Given the description of an element on the screen output the (x, y) to click on. 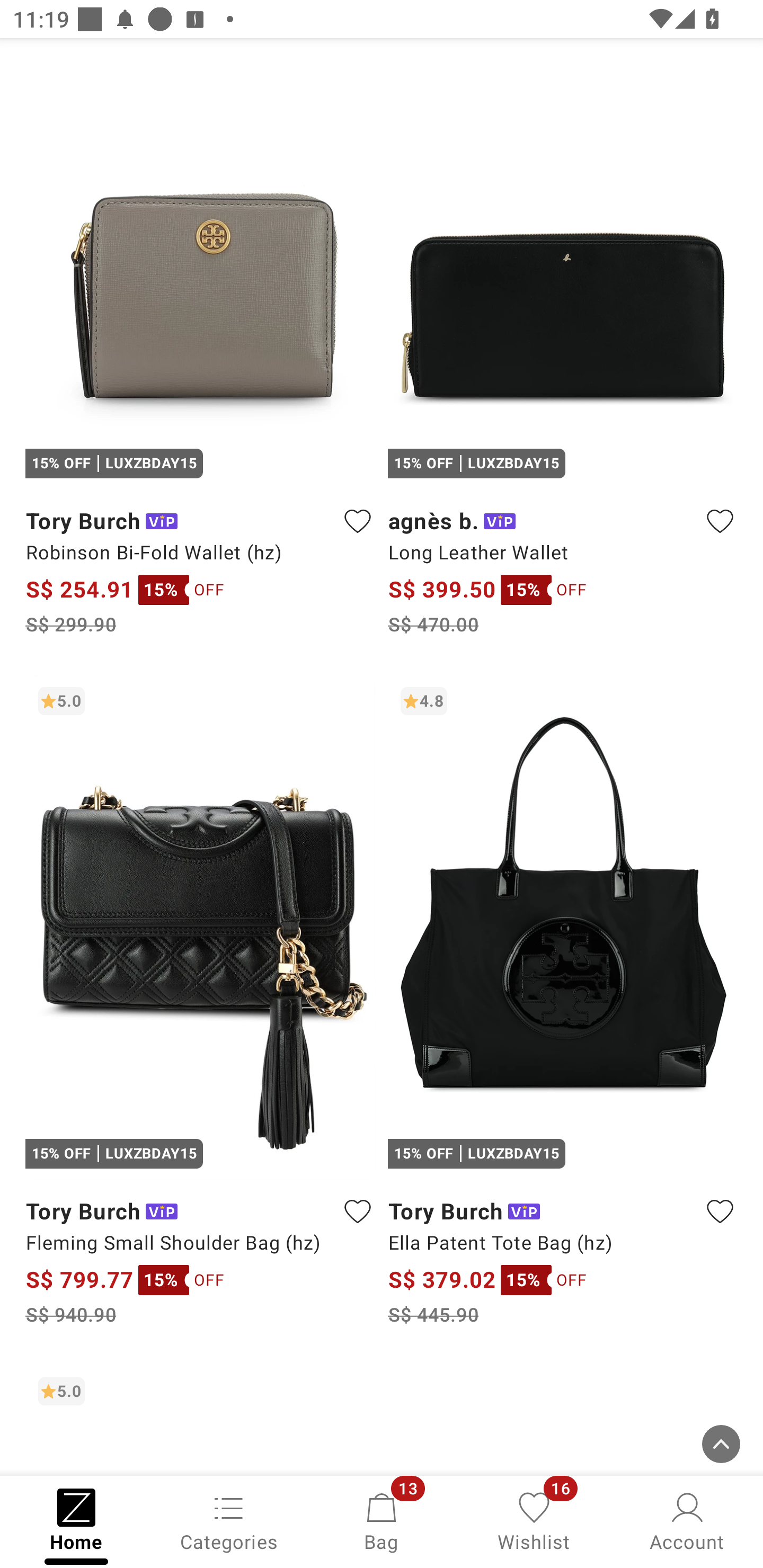
Categories (228, 1519)
Bag, 13 new notifications Bag (381, 1519)
Wishlist, 16 new notifications Wishlist (533, 1519)
Account (686, 1519)
